Given the description of an element on the screen output the (x, y) to click on. 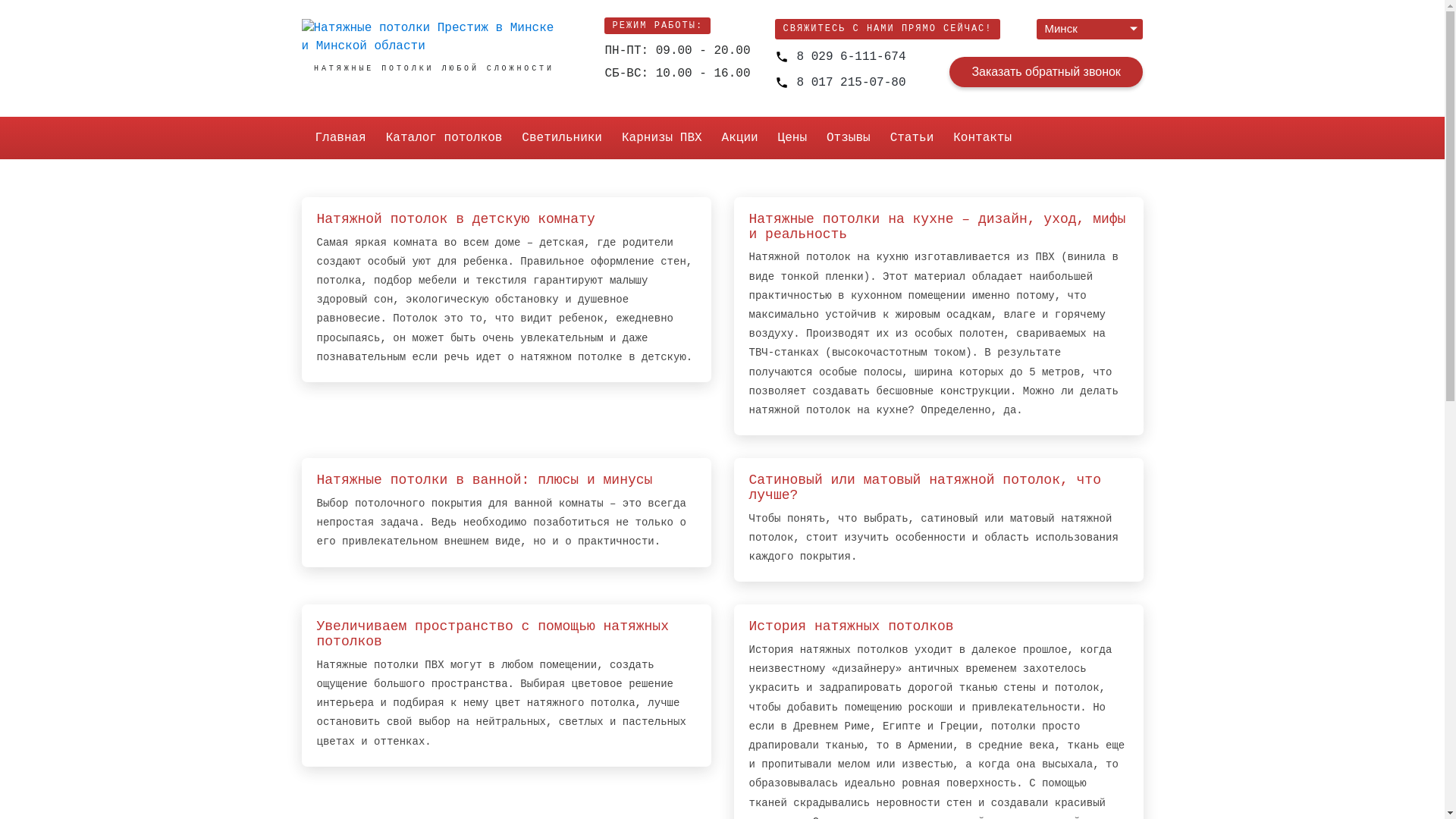
8 029 6-111-674 Element type: text (840, 56)
8 017 215-07-80 Element type: text (840, 83)
